Given the description of an element on the screen output the (x, y) to click on. 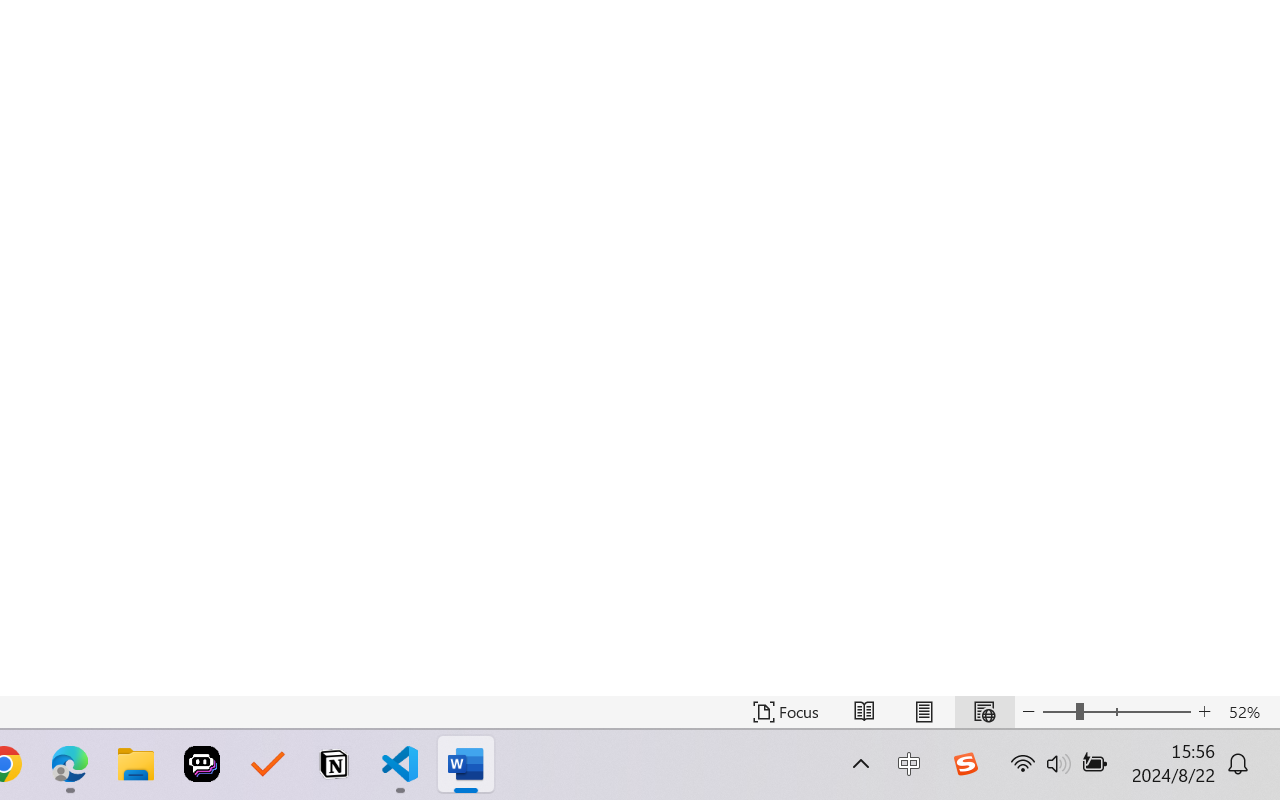
Zoom (1116, 712)
Class: Image (965, 764)
Focus  (786, 712)
Web Layout (984, 712)
Zoom Out (1058, 712)
Print Layout (924, 712)
Zoom In (1204, 712)
Zoom 52% (1249, 712)
Read Mode (864, 712)
